Given the description of an element on the screen output the (x, y) to click on. 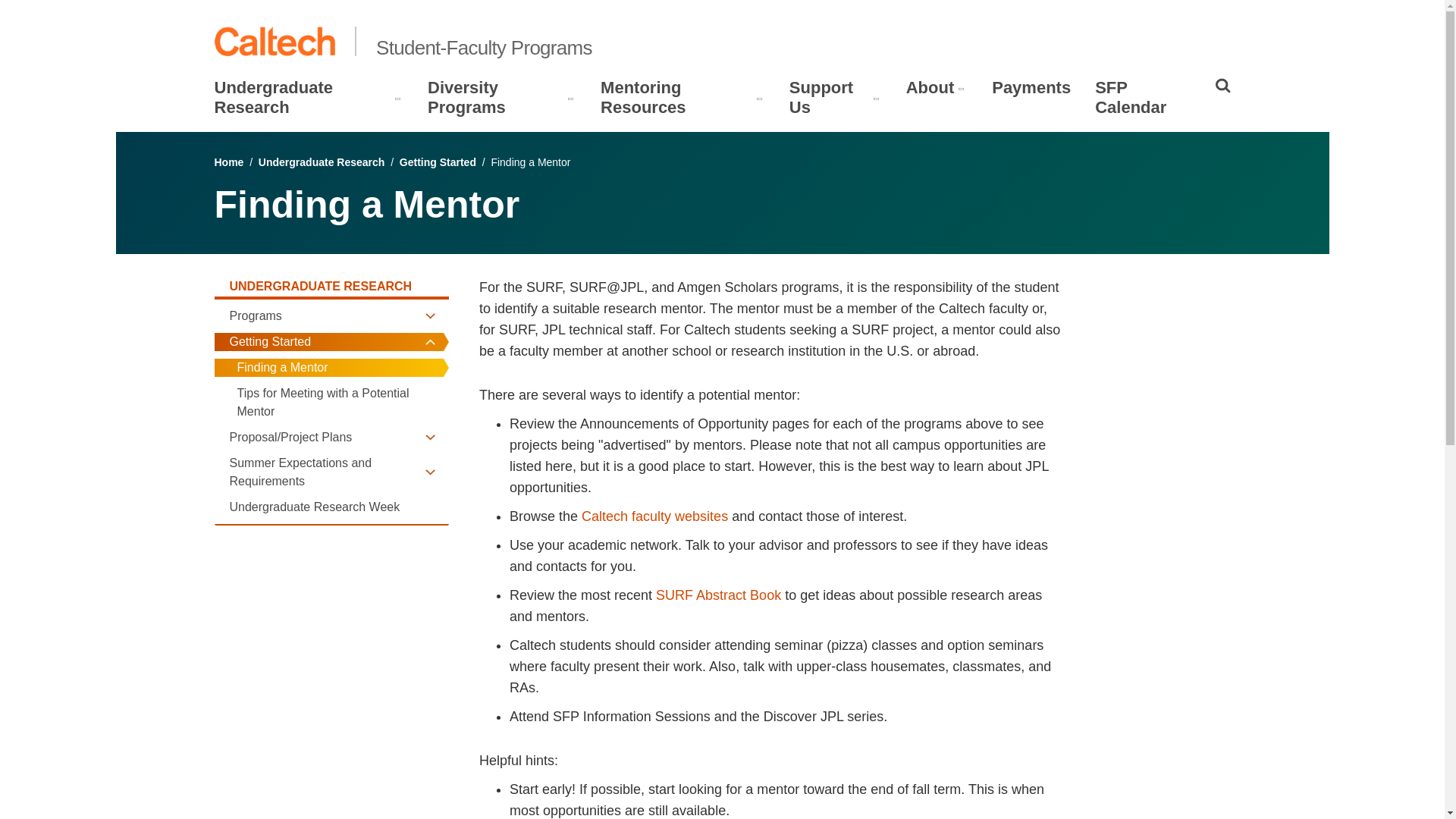
Undergraduate Research (302, 97)
skip to main content (53, 12)
Diversity Programs (496, 97)
Student-Faculty Programs (483, 47)
